Given the description of an element on the screen output the (x, y) to click on. 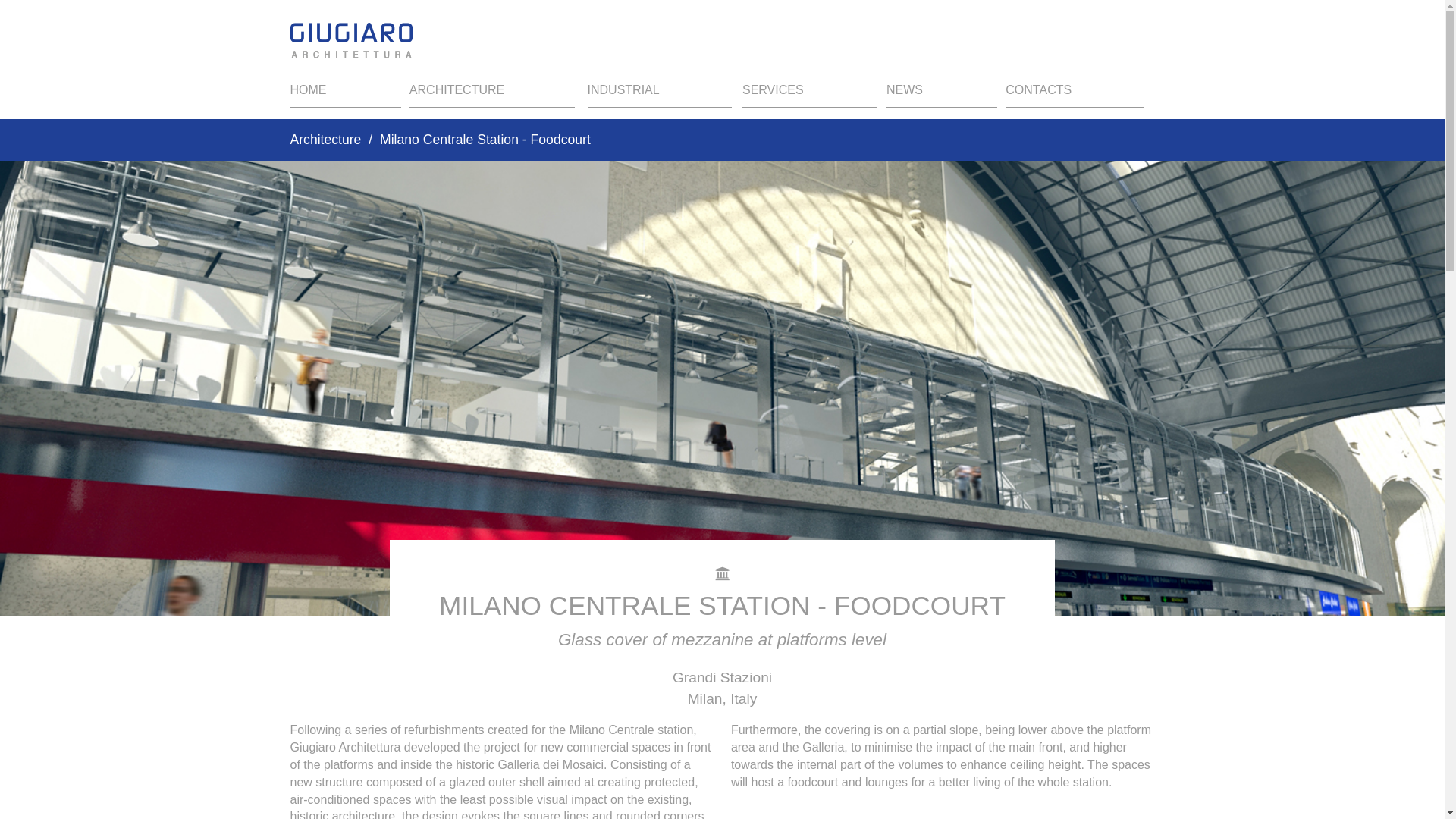
CONTACTS (1074, 94)
HOME (344, 94)
Architecture (325, 139)
INDUSTRIAL (660, 94)
ARCHITECTURE (492, 94)
SERVICES (809, 94)
NEWS (941, 94)
